Given the description of an element on the screen output the (x, y) to click on. 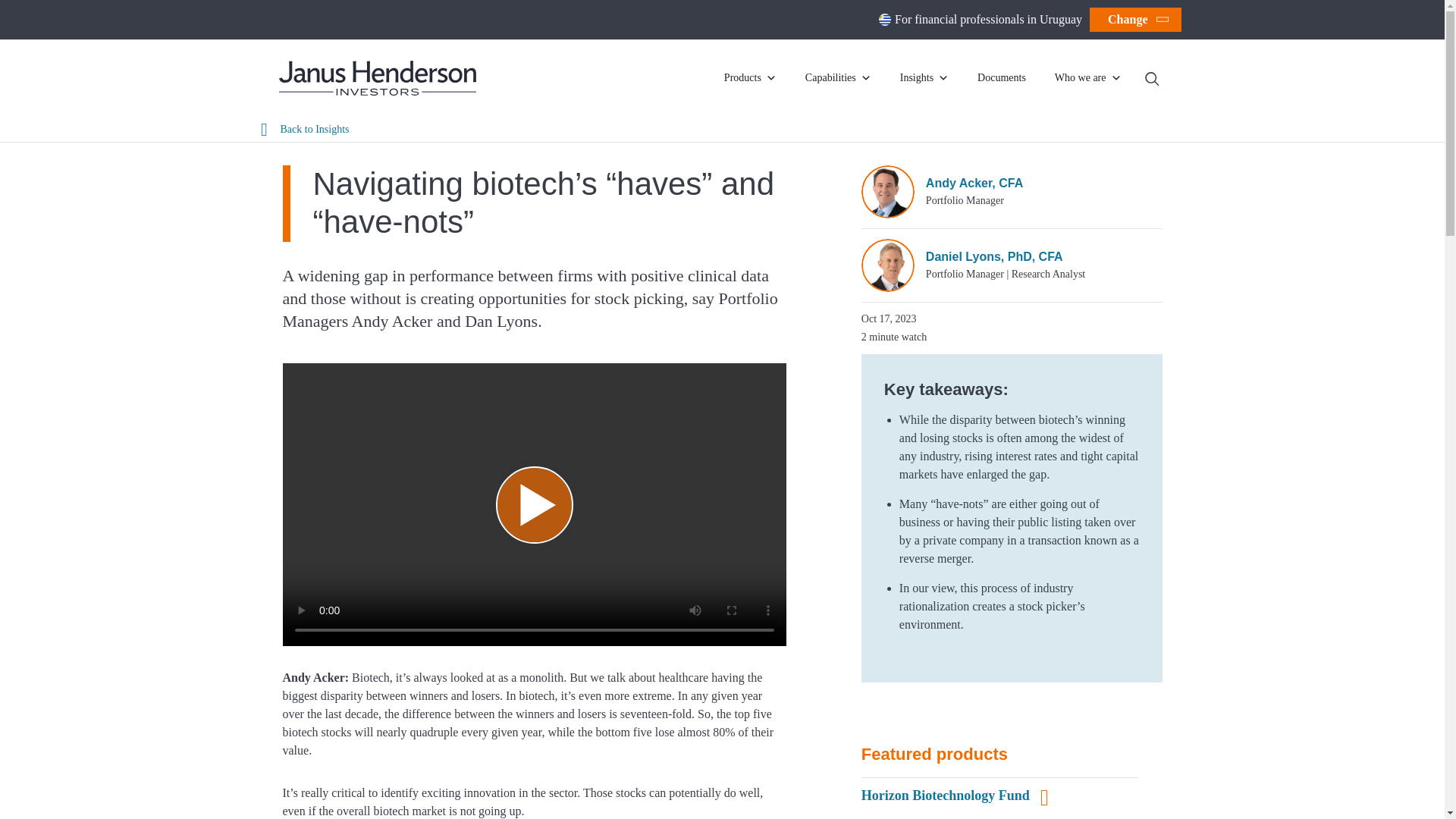
Products (752, 77)
Insights (926, 77)
Play Video (534, 504)
Capabilities (840, 77)
Change (1134, 19)
